Given the description of an element on the screen output the (x, y) to click on. 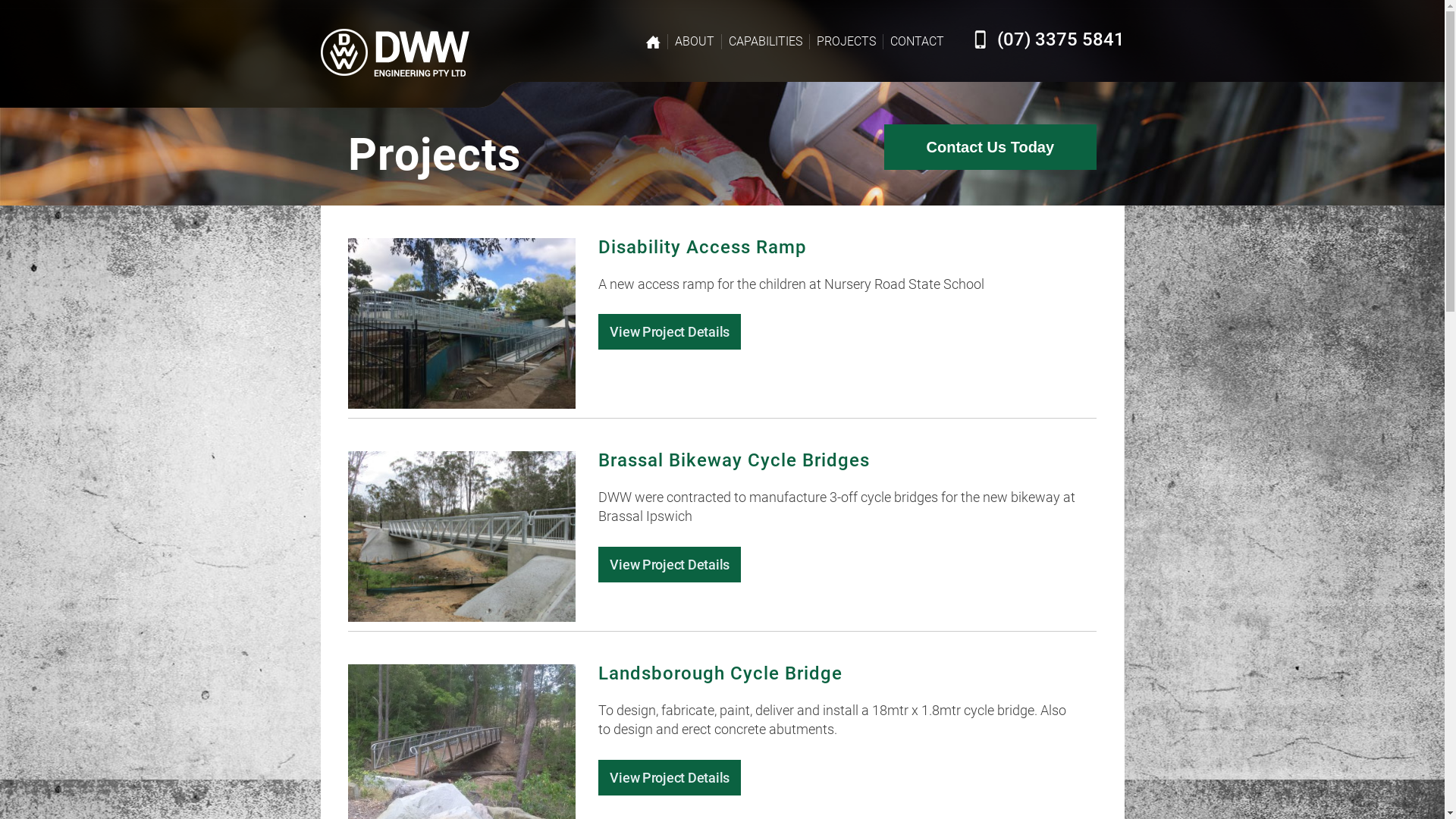
Contact Us Today Element type: text (990, 146)
HOME Element type: text (652, 41)
Brassal Bikeway Cycle Bridges Element type: text (733, 459)
View Project Details Element type: text (669, 331)
View Project Details Element type: text (669, 564)
Landsborough Cycle Bridge Element type: text (720, 673)
CONTACT Element type: text (916, 41)
CAPABILITIES Element type: text (764, 41)
Disability Access Ramp Element type: text (702, 246)
ABOUT Element type: text (694, 41)
PROJECTS Element type: text (845, 41)
View Project Details Element type: text (669, 777)
